Given the description of an element on the screen output the (x, y) to click on. 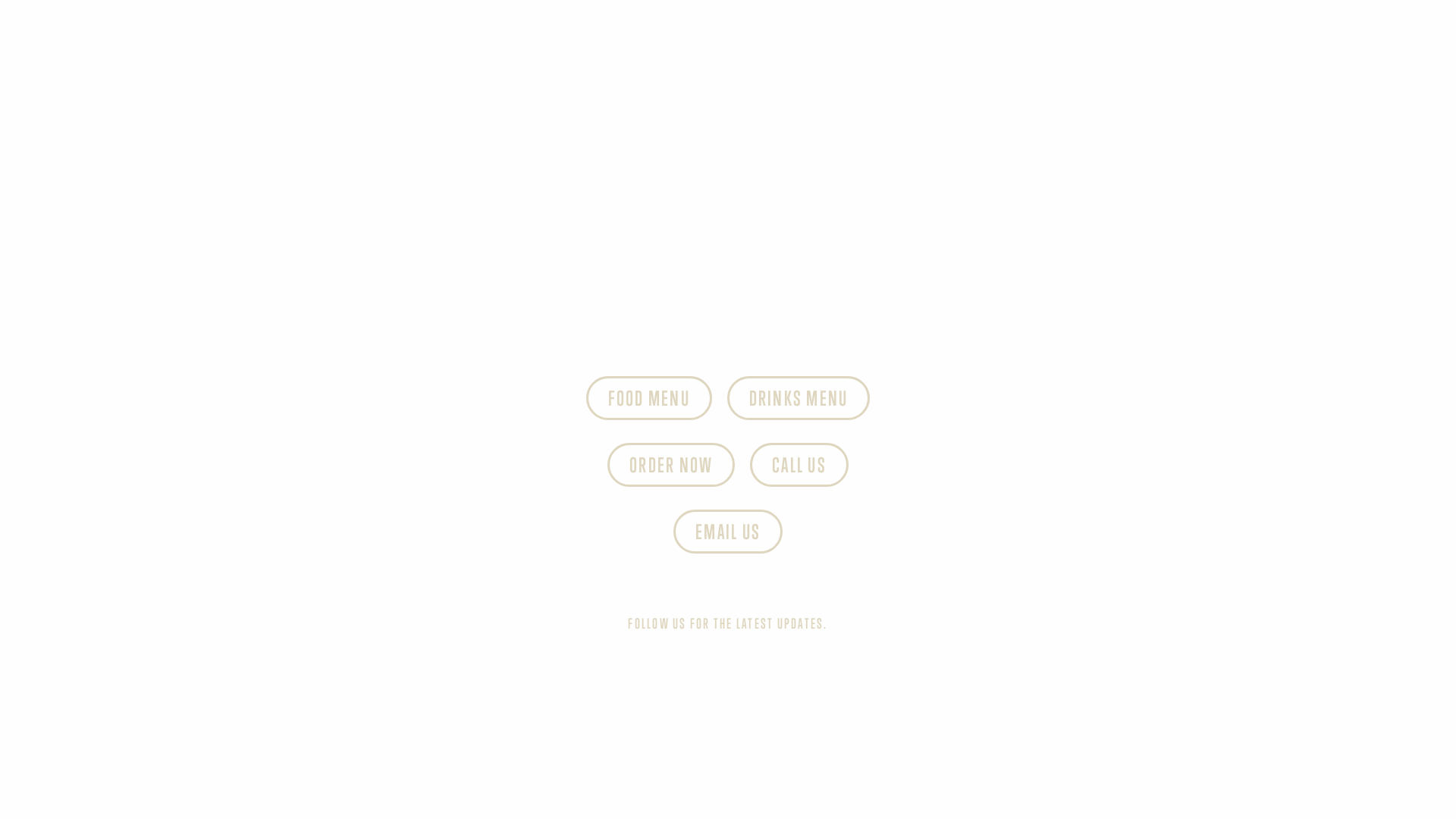
FOOD MENU Element type: text (649, 398)
CALL US Element type: text (798, 464)
GORMAN & CO Element type: text (167, 96)
EMAIL US Element type: text (727, 531)
DRINKS MENU Element type: text (798, 398)
ORDER NOW Element type: text (670, 464)
